Given the description of an element on the screen output the (x, y) to click on. 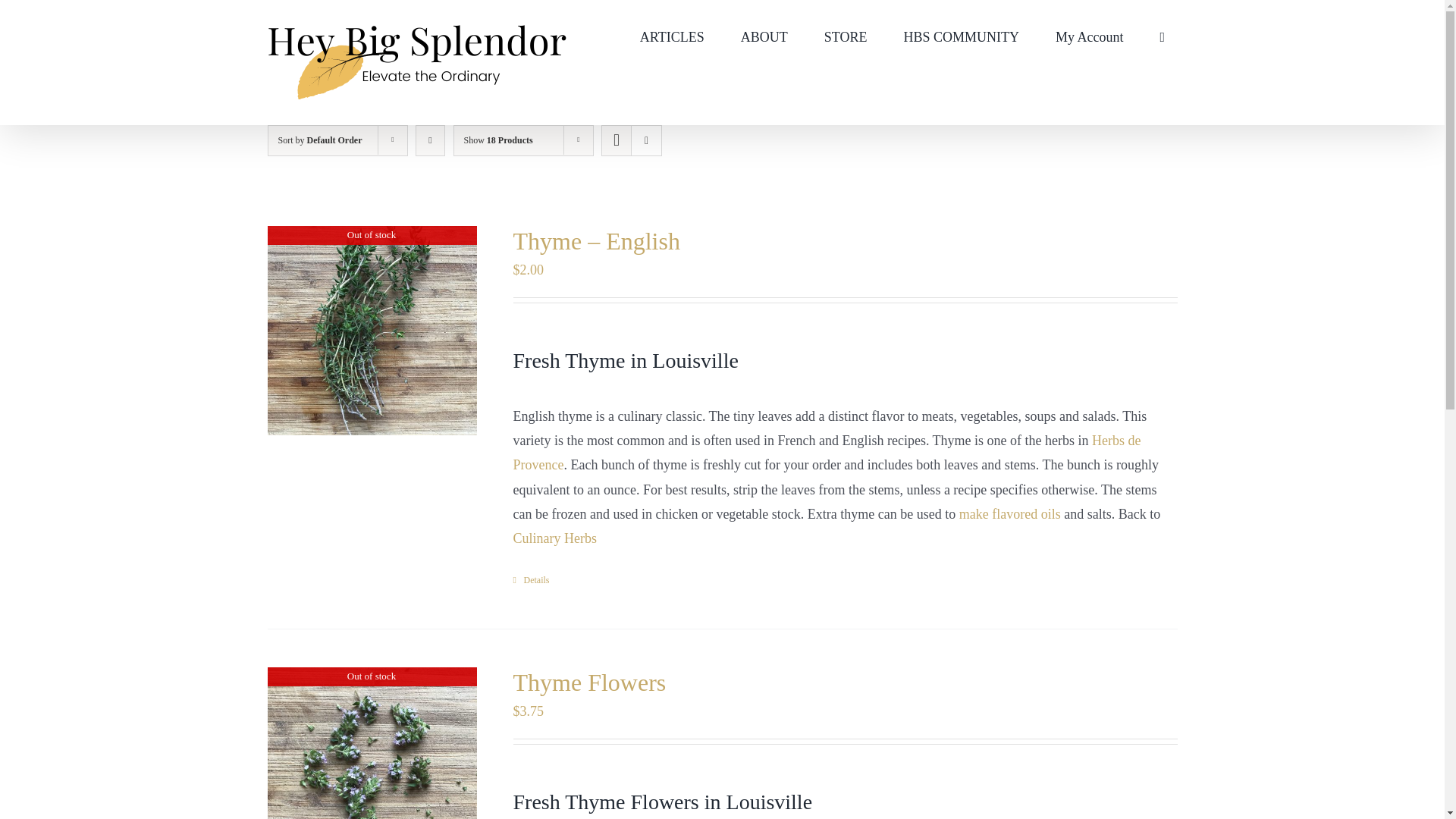
Log In (1152, 215)
Herbs de Provence (826, 452)
ARTICLES (672, 35)
Culinary Herbs (553, 538)
Show 18 Products (498, 140)
HBS COMMUNITY (960, 35)
My Account (1089, 35)
Sort by Default Order (319, 140)
Thyme Flowers (588, 682)
make flavored oils (1010, 513)
